Given the description of an element on the screen output the (x, y) to click on. 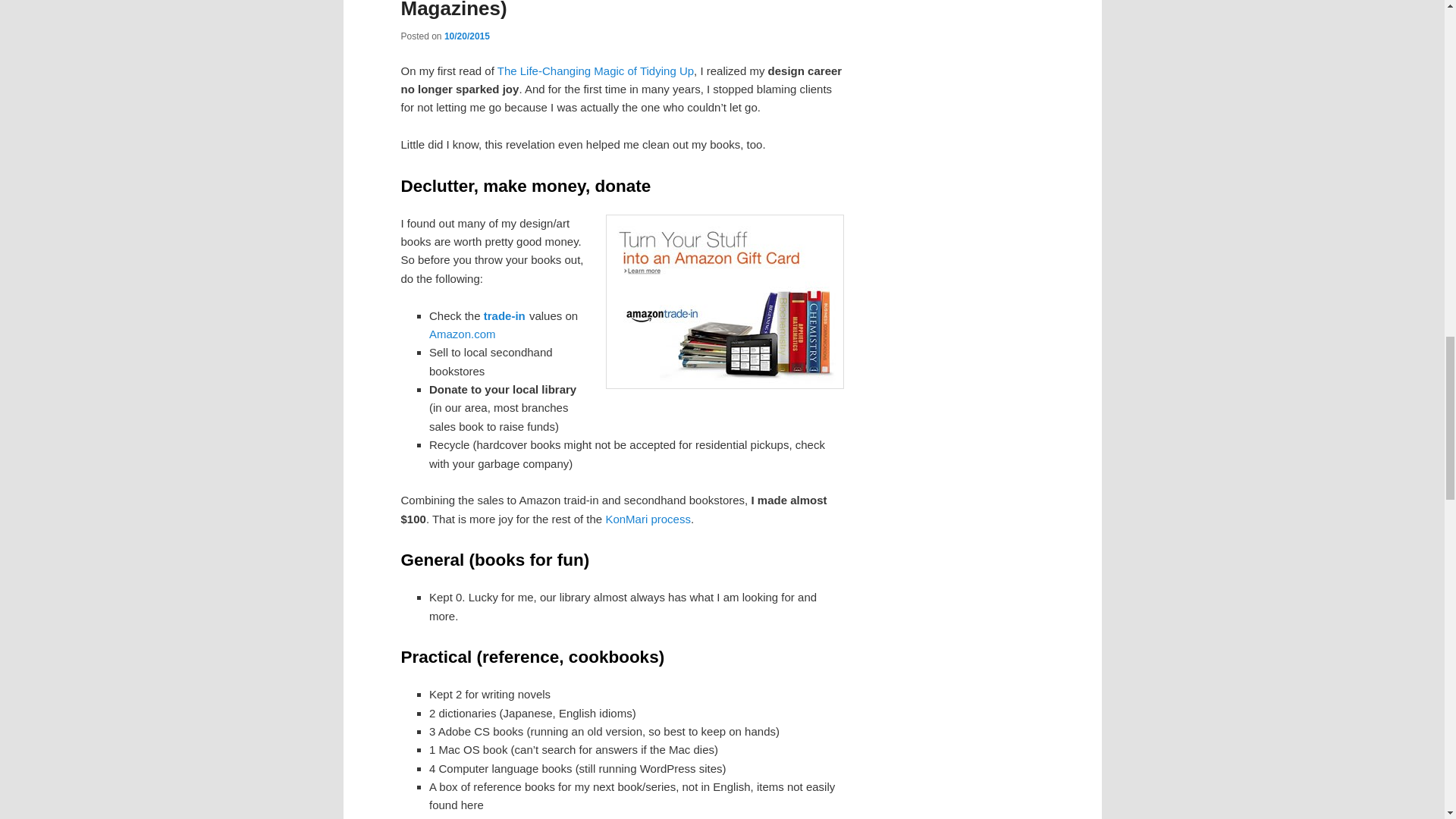
KonMari process (647, 518)
Amazon.com (462, 333)
6:10 pm (466, 36)
trade-in (504, 315)
The Life-Changing Magic of Tidying Up (595, 70)
